Given the description of an element on the screen output the (x, y) to click on. 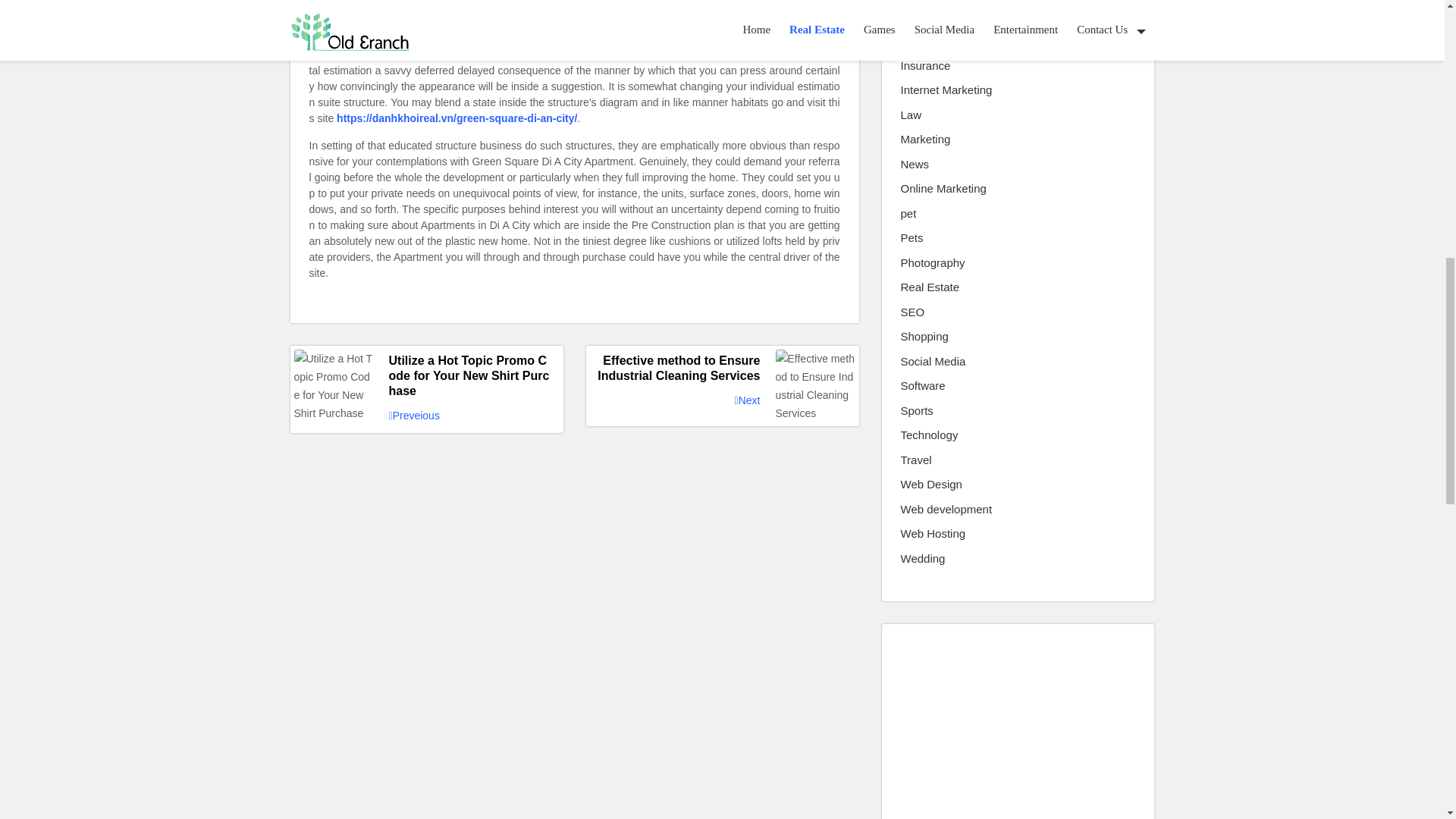
Next (747, 400)
Preveious (413, 415)
Effective method to Ensure Industrial Cleaning Services (721, 368)
Utilize a Hot Topic Promo Code for Your New Shirt Purchase (426, 375)
